Given the description of an element on the screen output the (x, y) to click on. 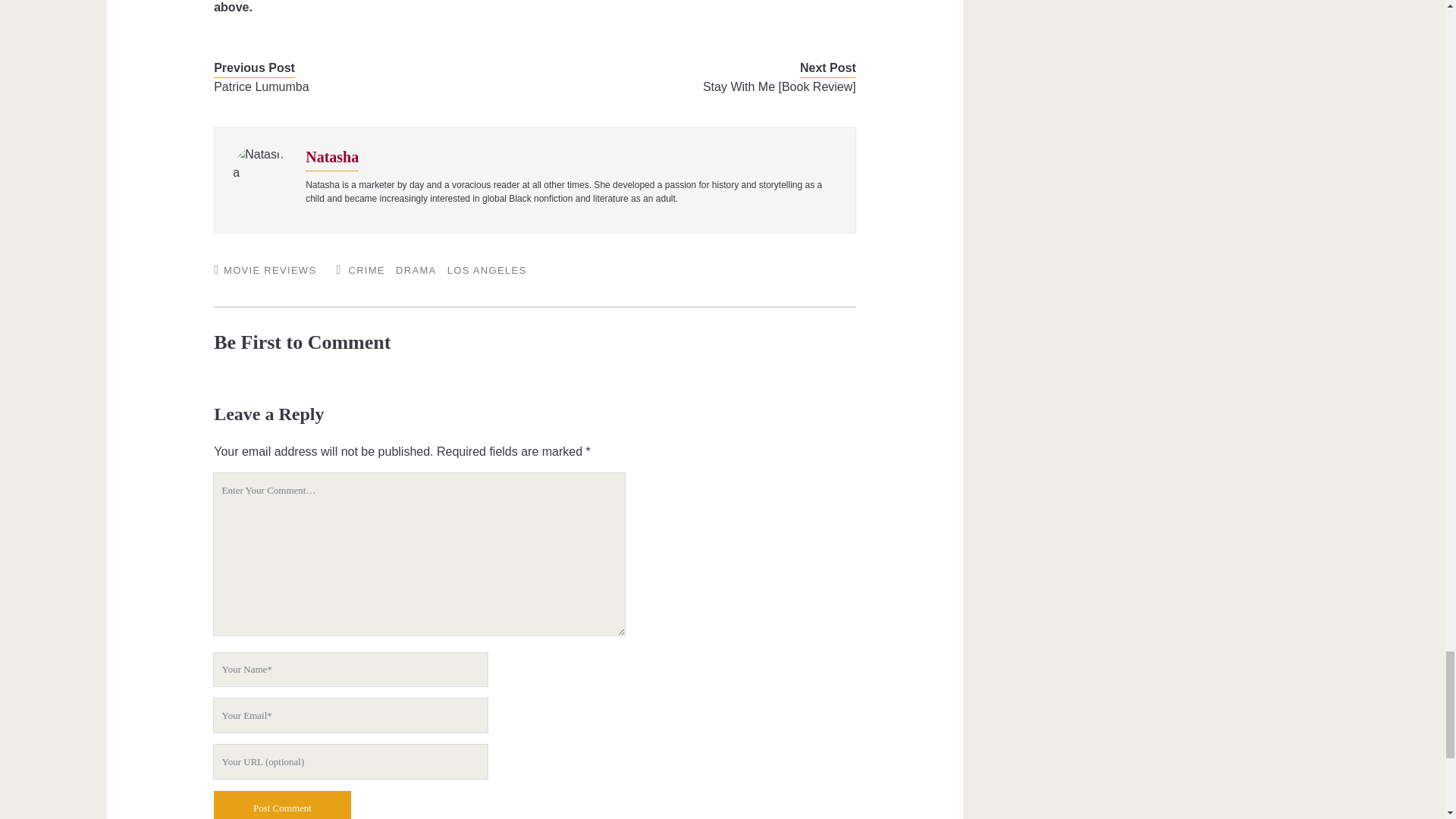
CRIME (365, 270)
Post Comment (282, 805)
DRAMA (415, 270)
Patrice Lumumba (361, 86)
Natasha (331, 156)
Post Comment (282, 805)
LOS ANGELES (486, 270)
MOVIE REVIEWS (269, 270)
